Given the description of an element on the screen output the (x, y) to click on. 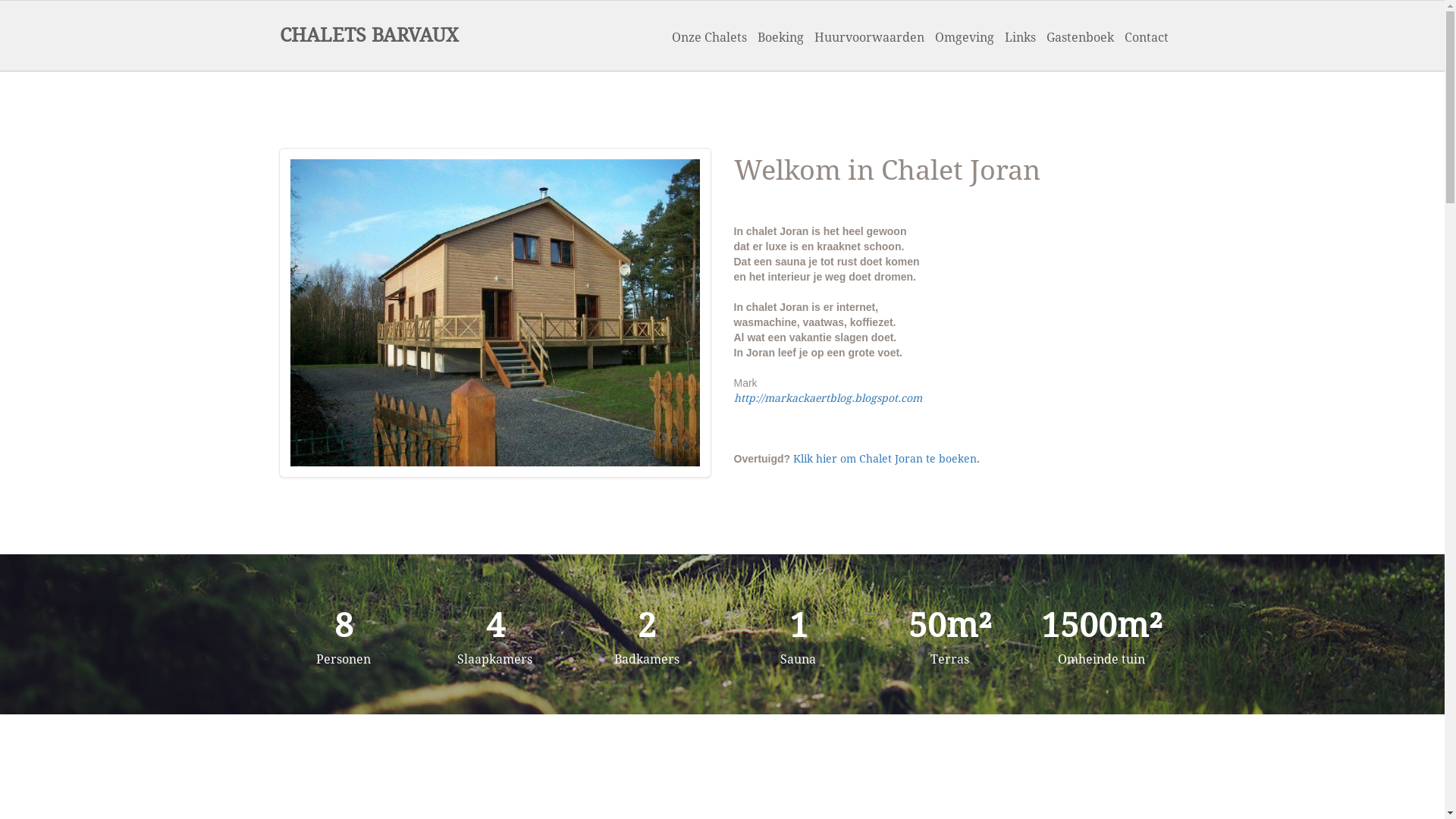
Contact Element type: text (1146, 37)
markackaertblog.blogspot.com Element type: text (843, 398)
http:// Element type: text (749, 398)
Links Element type: text (1020, 37)
Klik hier om Chalet Joran te boeken Element type: text (884, 458)
Omgeving Element type: text (964, 37)
Boeking Element type: text (780, 37)
Onze Chalets Element type: text (708, 37)
Huurvoorwaarden Element type: text (868, 37)
Gastenboek Element type: text (1079, 37)
CHALETS BARVAUX Element type: text (369, 35)
